Given the description of an element on the screen output the (x, y) to click on. 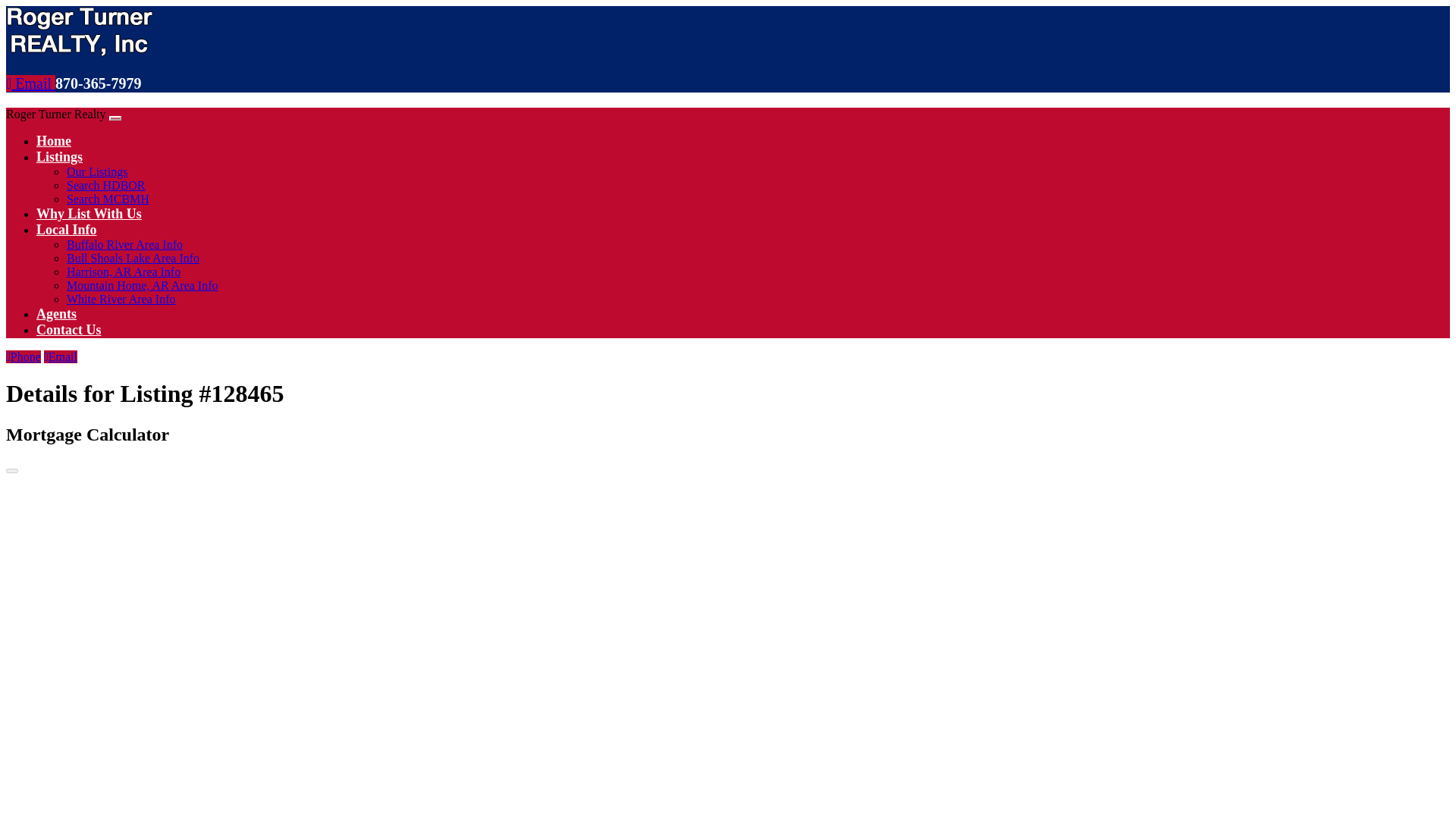
Email (30, 83)
Search MCBMH (107, 198)
Mountain Home, AR Area Info (142, 285)
Skip to main content (784, 2)
Agents (56, 313)
Home (53, 140)
Search HDBOR (105, 185)
Our Listings (97, 171)
Harrison, AR Area Info (123, 271)
Bull Shoals Lake Area Info (132, 257)
Listings (59, 156)
Why List With Us (88, 213)
Phone (22, 356)
Local Info (66, 229)
White River Area Info (121, 298)
